Given the description of an element on the screen output the (x, y) to click on. 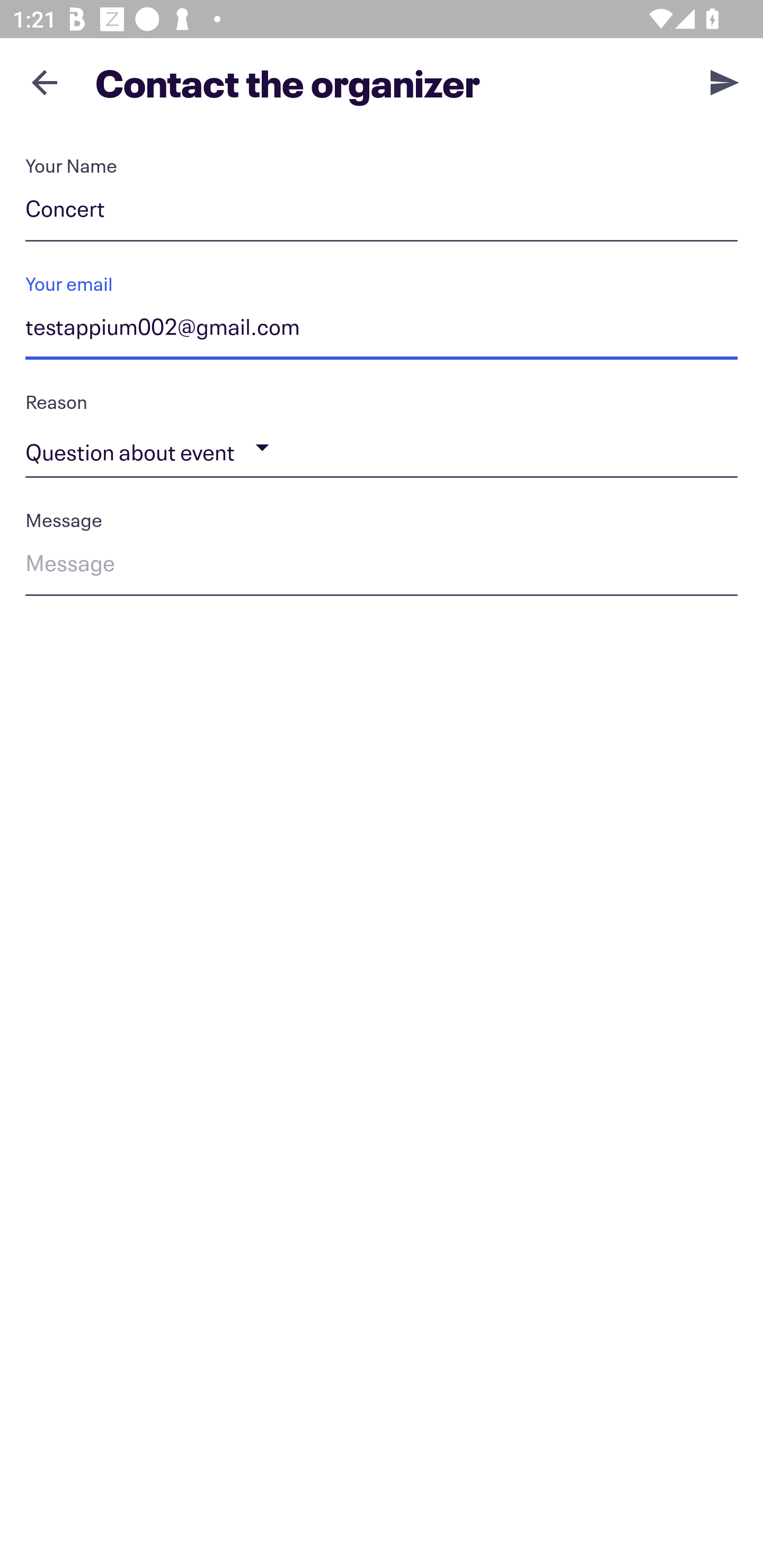
Navigate up (44, 82)
Send (724, 81)
Concert (381, 211)
testappium002@gmail.com (381, 329)
Question about event    (381, 447)
Message (381, 565)
